Given the description of an element on the screen output the (x, y) to click on. 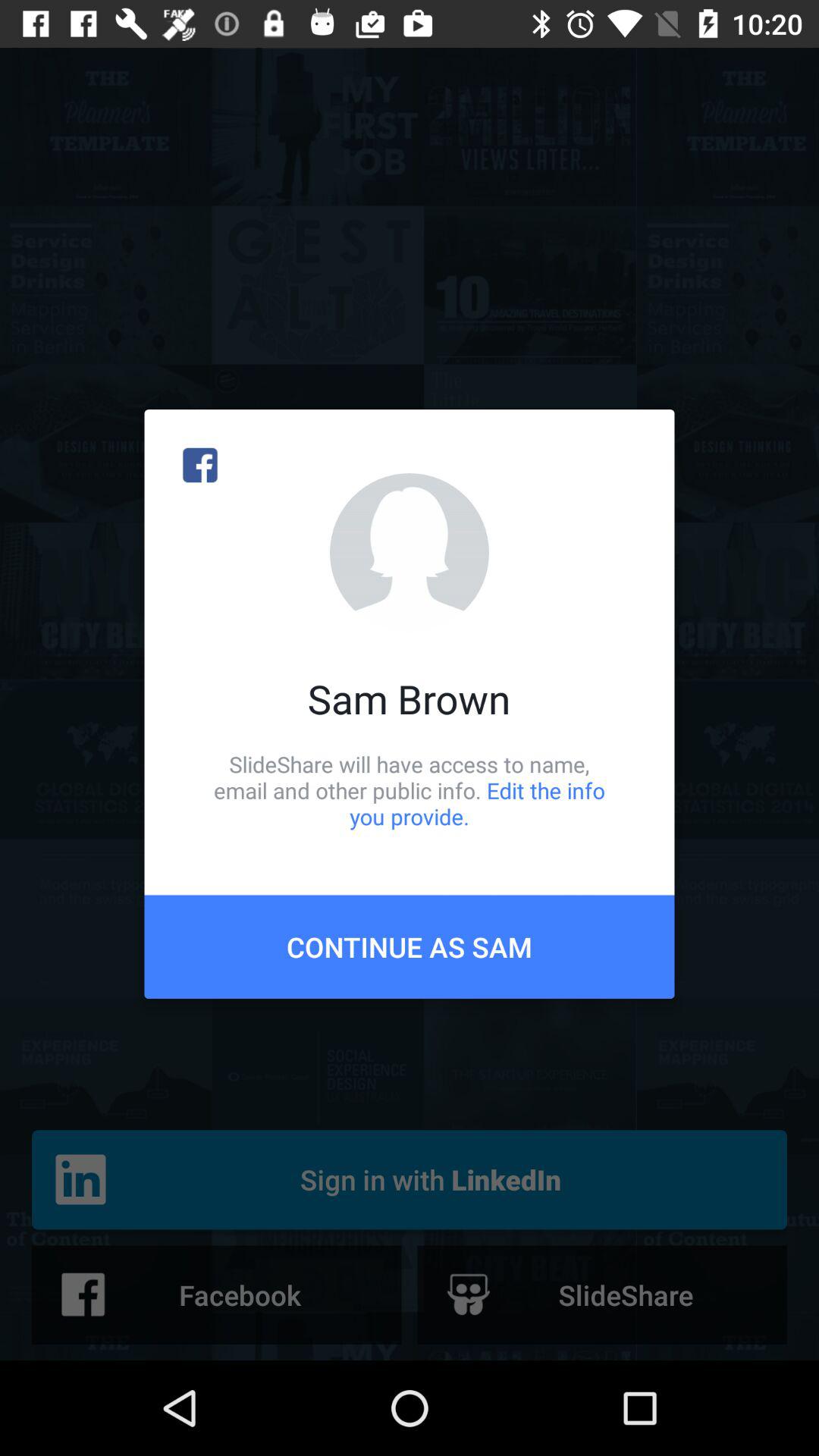
open the continue as sam item (409, 946)
